Given the description of an element on the screen output the (x, y) to click on. 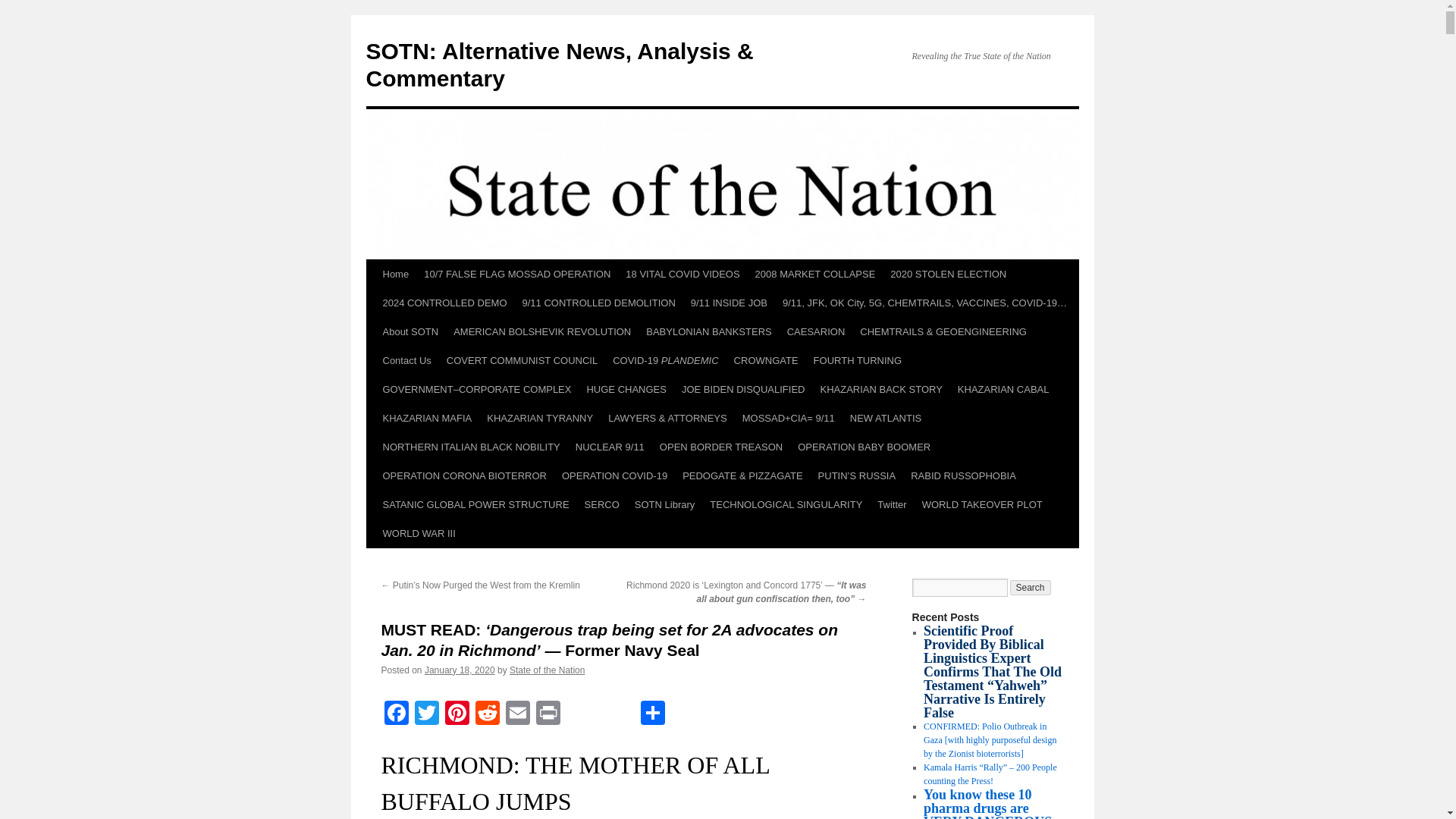
NEW ATLANTIS (885, 418)
BABYLONIAN BANKSTERS (708, 331)
RABID RUSSOPHOBIA (962, 475)
Email (517, 714)
6:52 am (460, 670)
2008 MARKET COLLAPSE (815, 274)
Print (547, 714)
FOURTH TURNING (858, 360)
OPEN BORDER TREASON (721, 447)
Contact Us (406, 360)
